Given the description of an element on the screen output the (x, y) to click on. 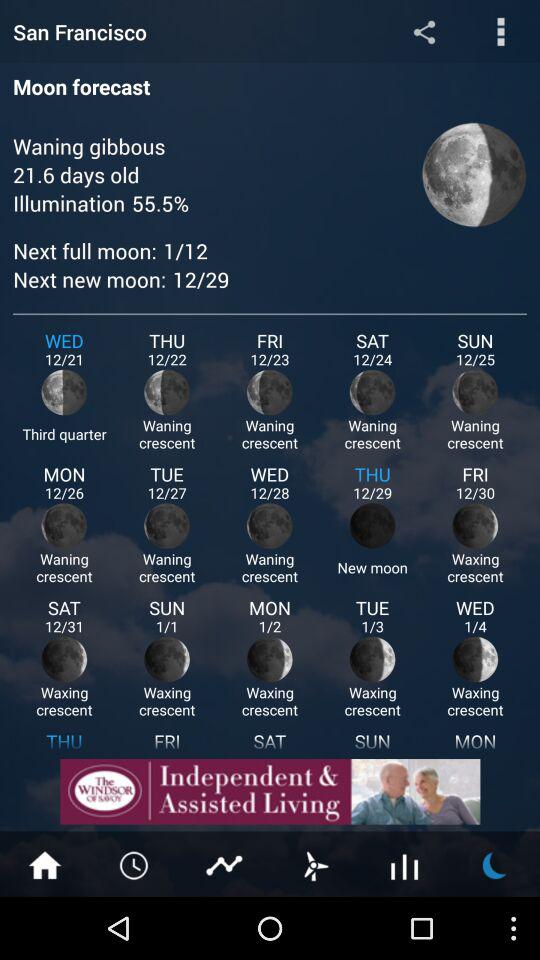
go to clcok option (135, 864)
